Given the description of an element on the screen output the (x, y) to click on. 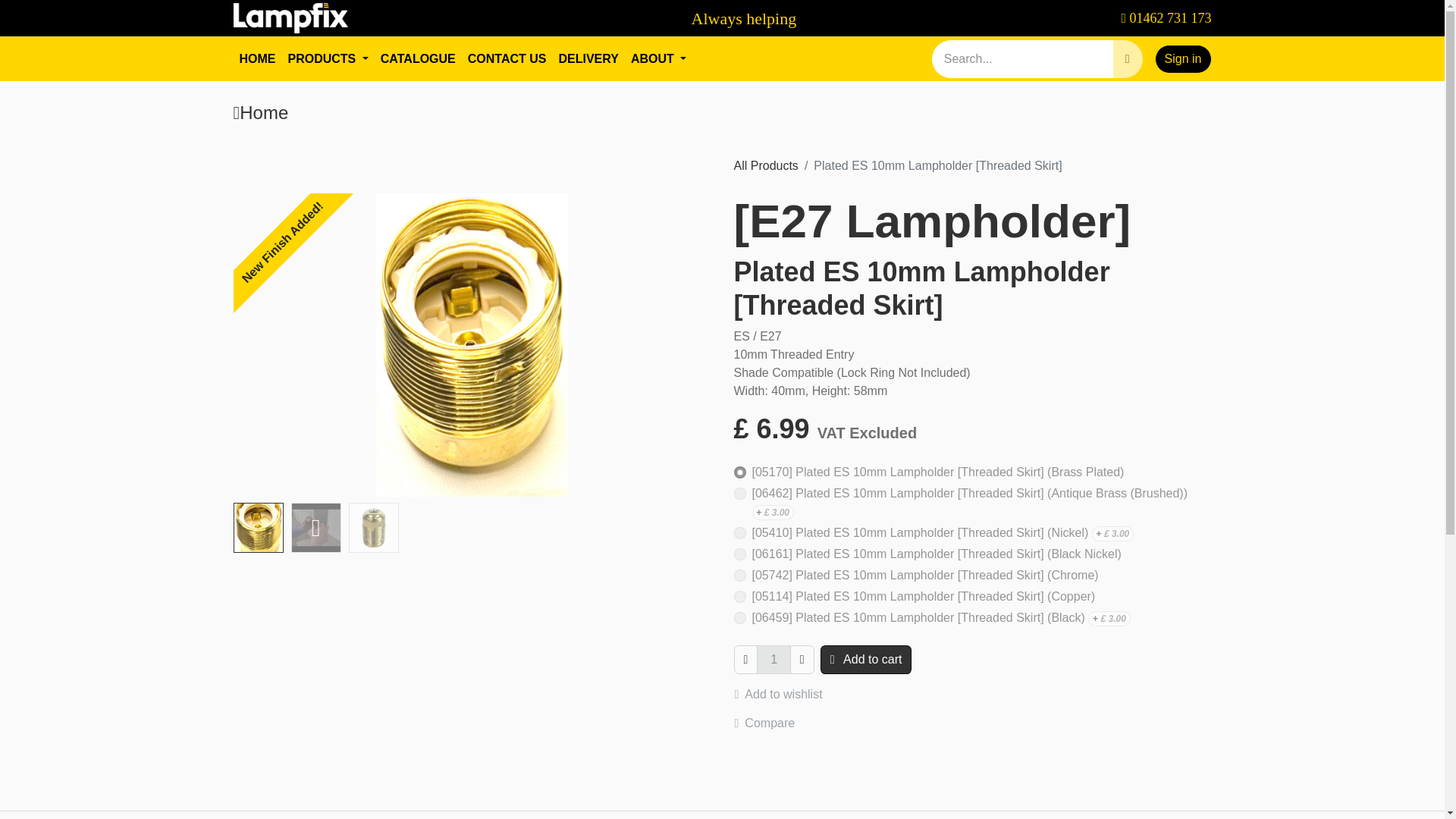
17750 (739, 553)
PRODUCTS (722, 18)
17749 (328, 59)
32897 (739, 532)
32900 (739, 617)
1 (739, 493)
17748 (773, 659)
HOME (739, 472)
Lampfix (257, 59)
